Given the description of an element on the screen output the (x, y) to click on. 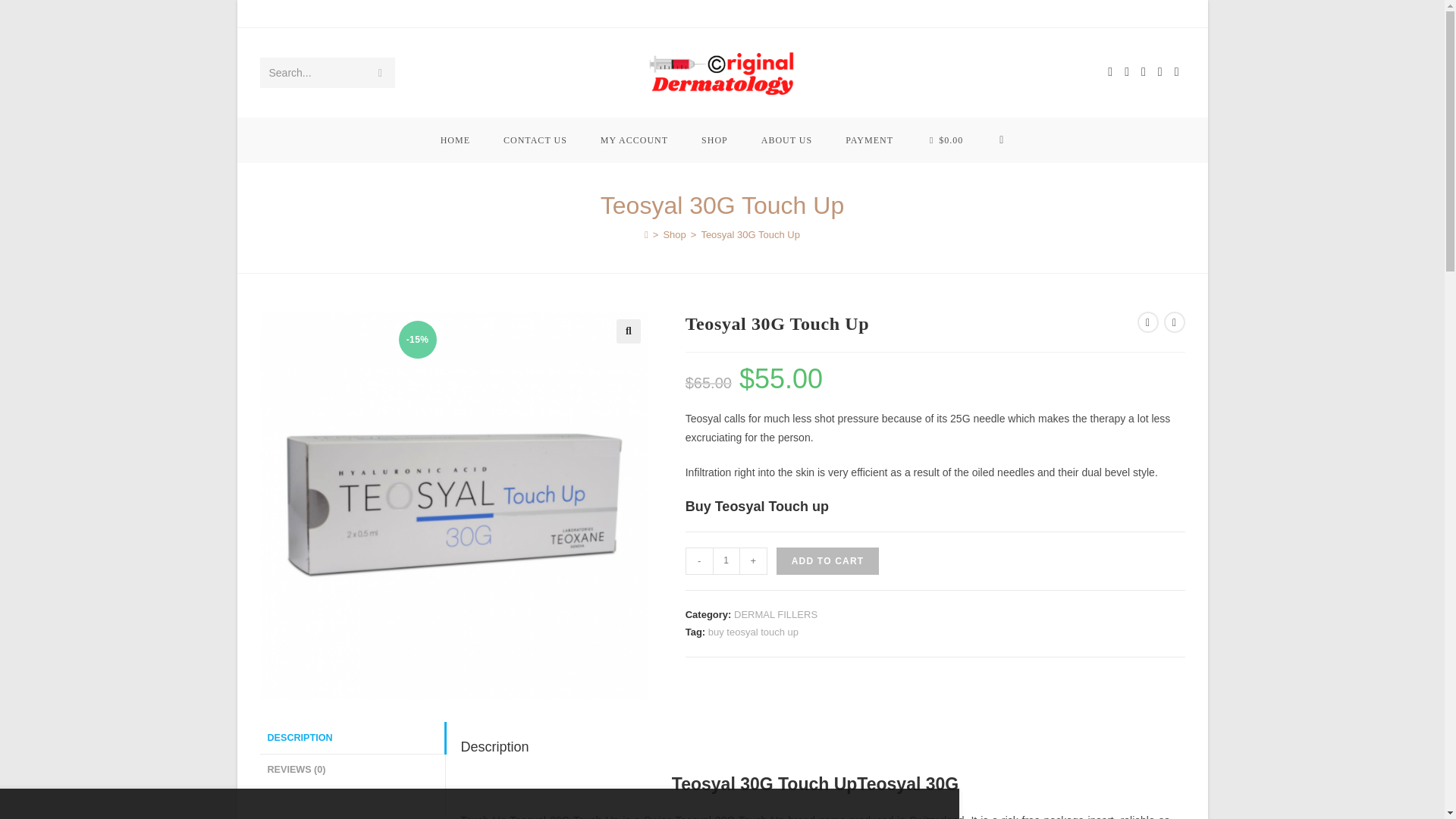
PAYMENT (869, 139)
3255 (1112, 24)
MY ACCOUNT (633, 139)
HOME (454, 139)
ABOUT US (786, 139)
SHOP (714, 139)
CONTACT US (534, 139)
1 (726, 560)
